Given the description of an element on the screen output the (x, y) to click on. 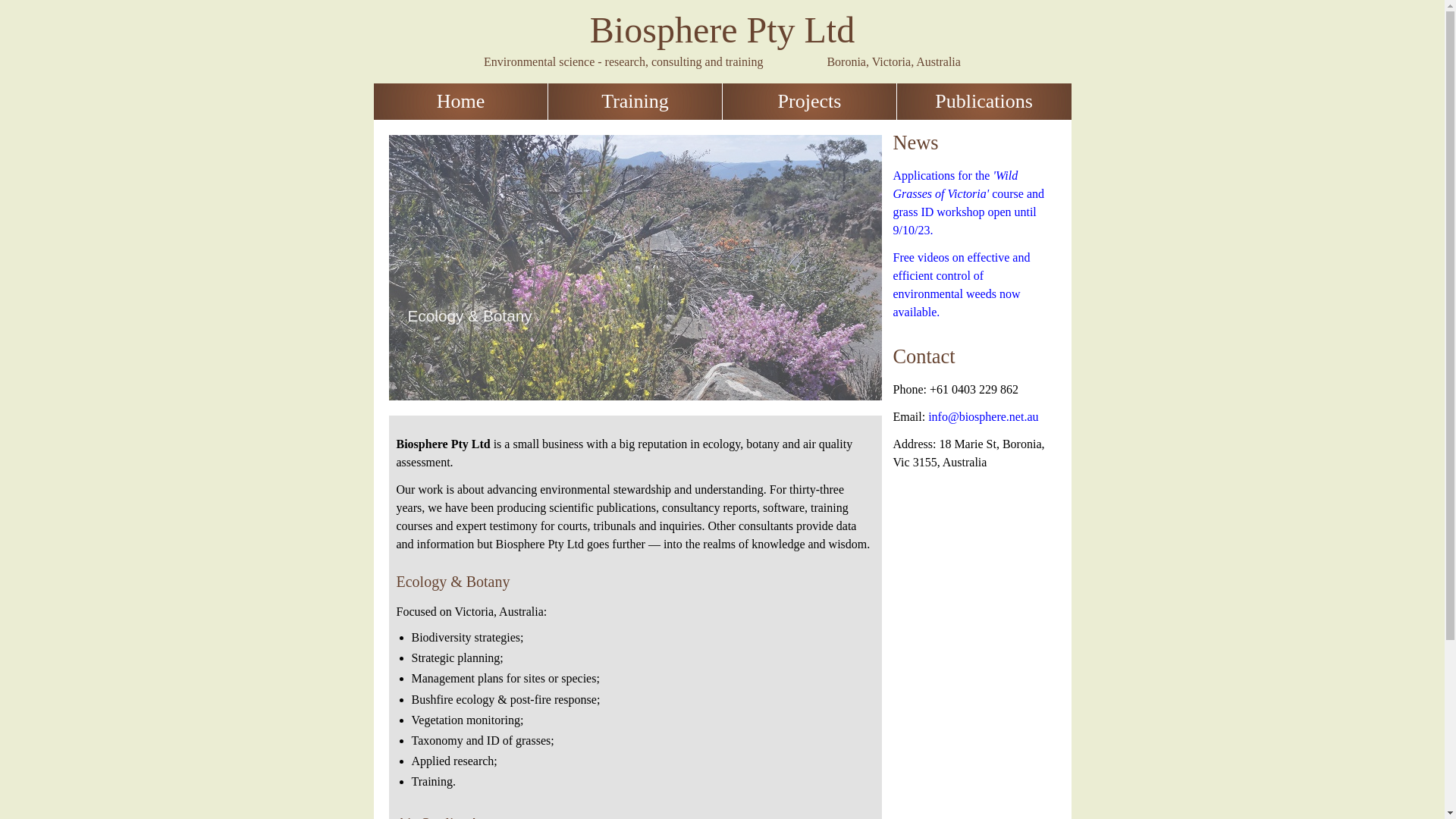
Home Element type: text (460, 101)
Biosphere Pty Ltd Element type: text (721, 29)
Publications Element type: text (983, 101)
Training Element type: text (634, 101)
Projects Element type: text (808, 101)
info@biosphere.net.au Element type: text (983, 416)
